Given the description of an element on the screen output the (x, y) to click on. 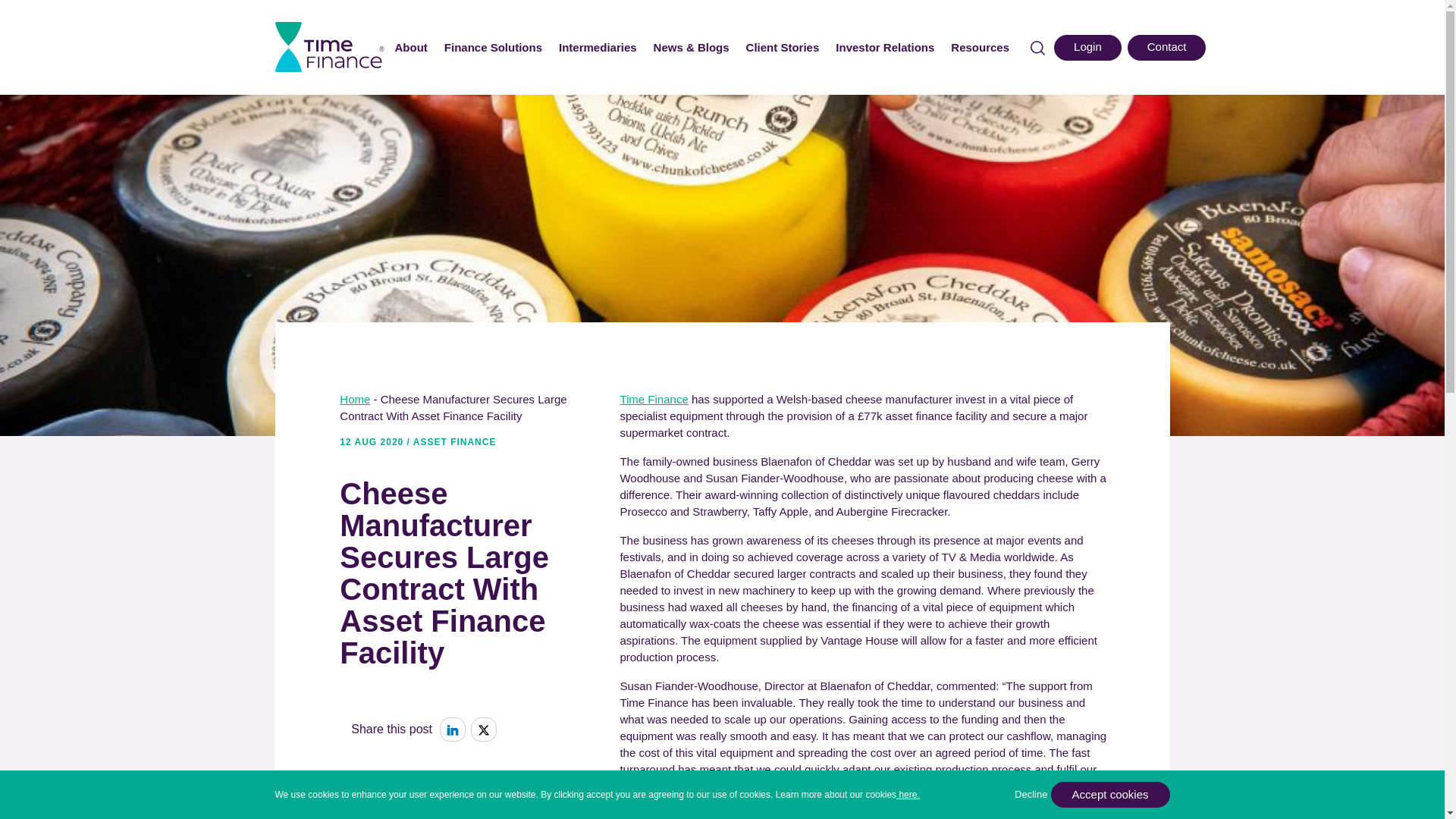
Investor Relations (884, 47)
Finance Solutions (493, 47)
Login (1087, 47)
Client Stories (782, 47)
Contact (1166, 47)
Home (354, 399)
Share Us On Twitter (483, 729)
Intermediaries (598, 47)
Share Us On LinkedIn (452, 729)
